Given the description of an element on the screen output the (x, y) to click on. 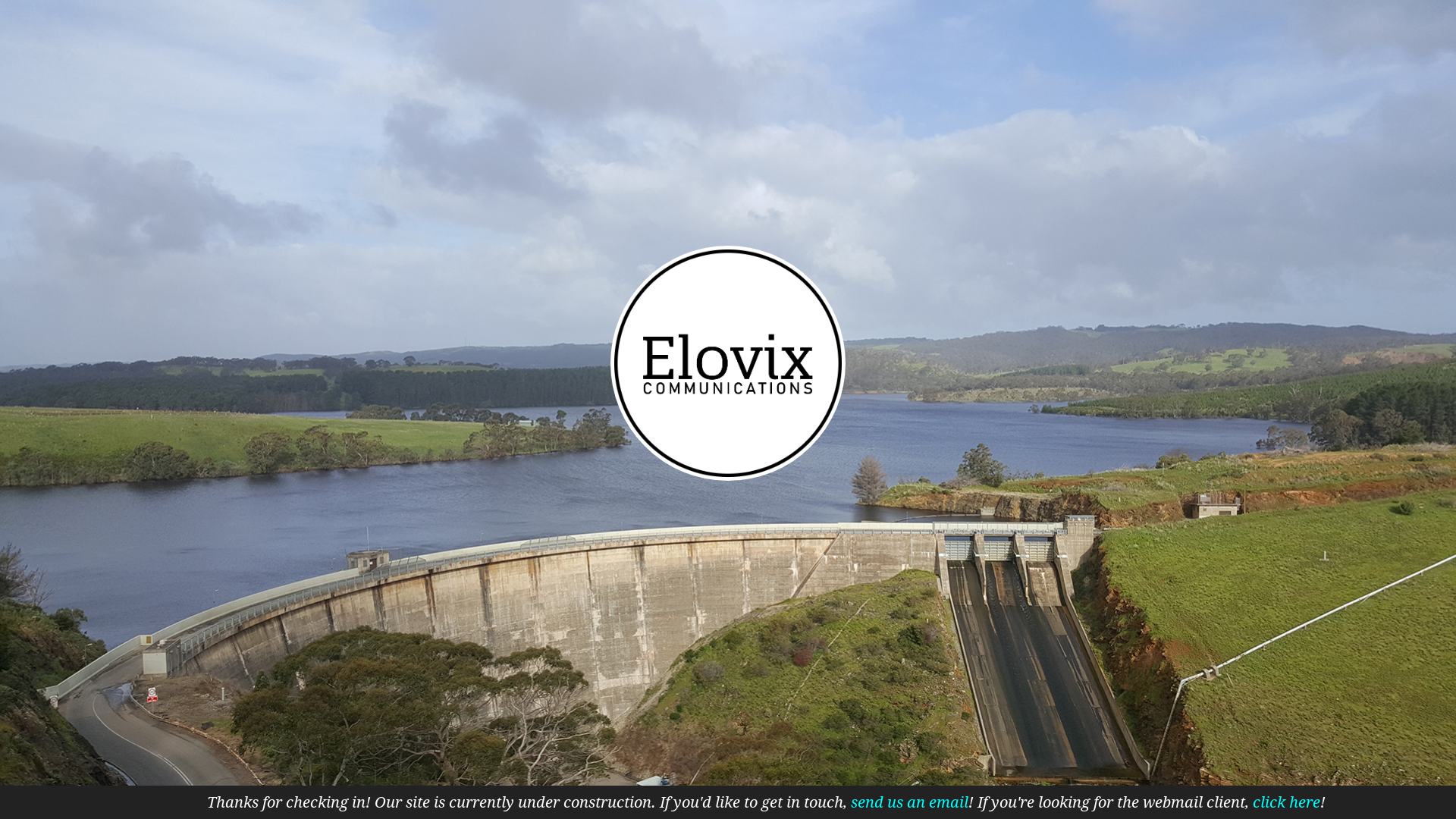
click here Element type: text (1286, 802)
send us an email Element type: text (909, 802)
